Given the description of an element on the screen output the (x, y) to click on. 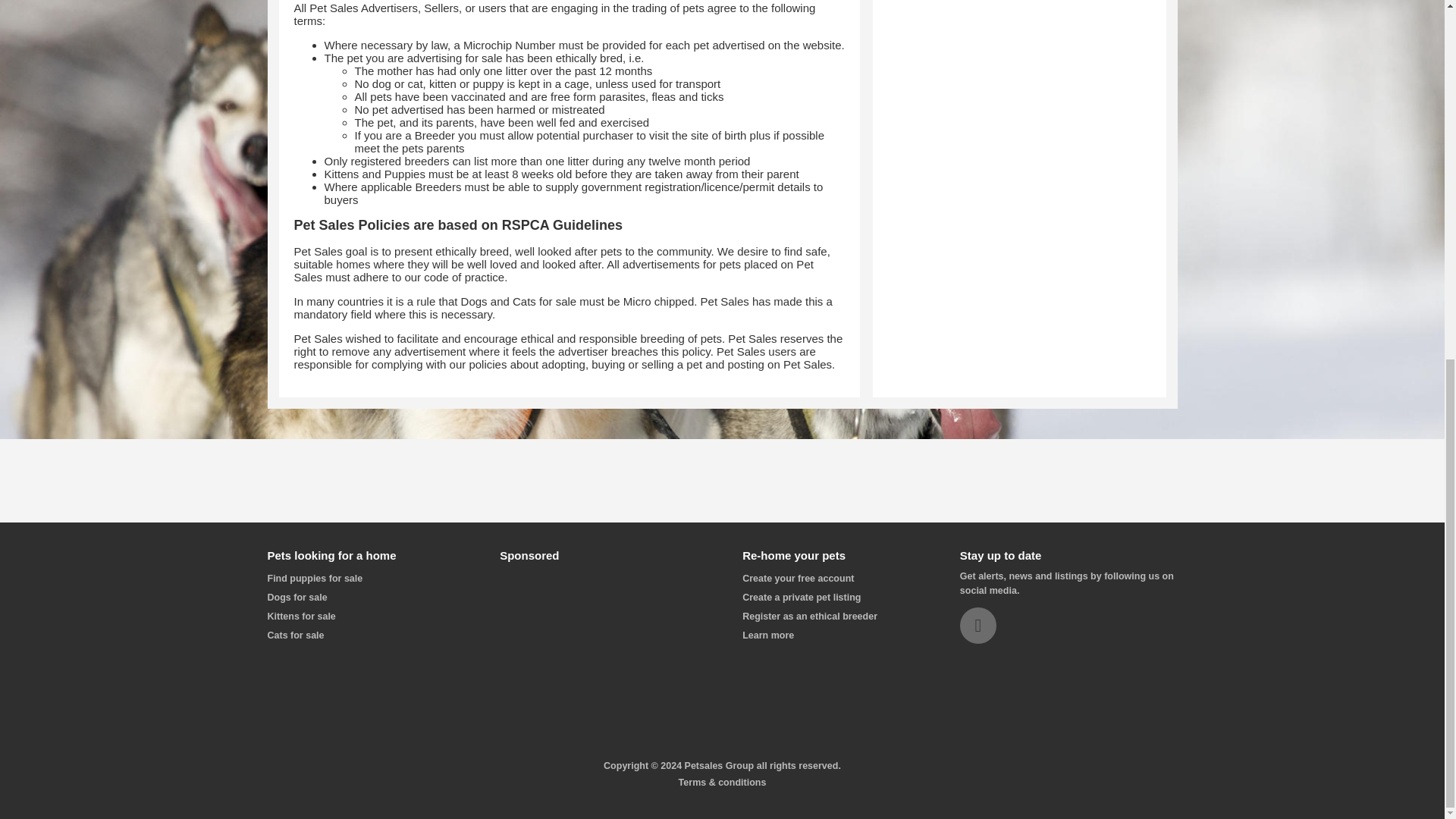
Kittens for sale in New Zealand (300, 615)
Kittens for sale (300, 615)
Cats for sale (294, 634)
Create a private pet listing (801, 597)
Register as an ethical breeder (809, 615)
Dogs for sale (296, 597)
Learn more (767, 634)
Find puppies for sale (314, 578)
Terms and conditions (722, 782)
Find puppies for sale in New Zealand (314, 578)
Cats for sale in New Zealand (294, 634)
Create your free account (797, 578)
Dogs for sale in New Zealand (296, 597)
